Given the description of an element on the screen output the (x, y) to click on. 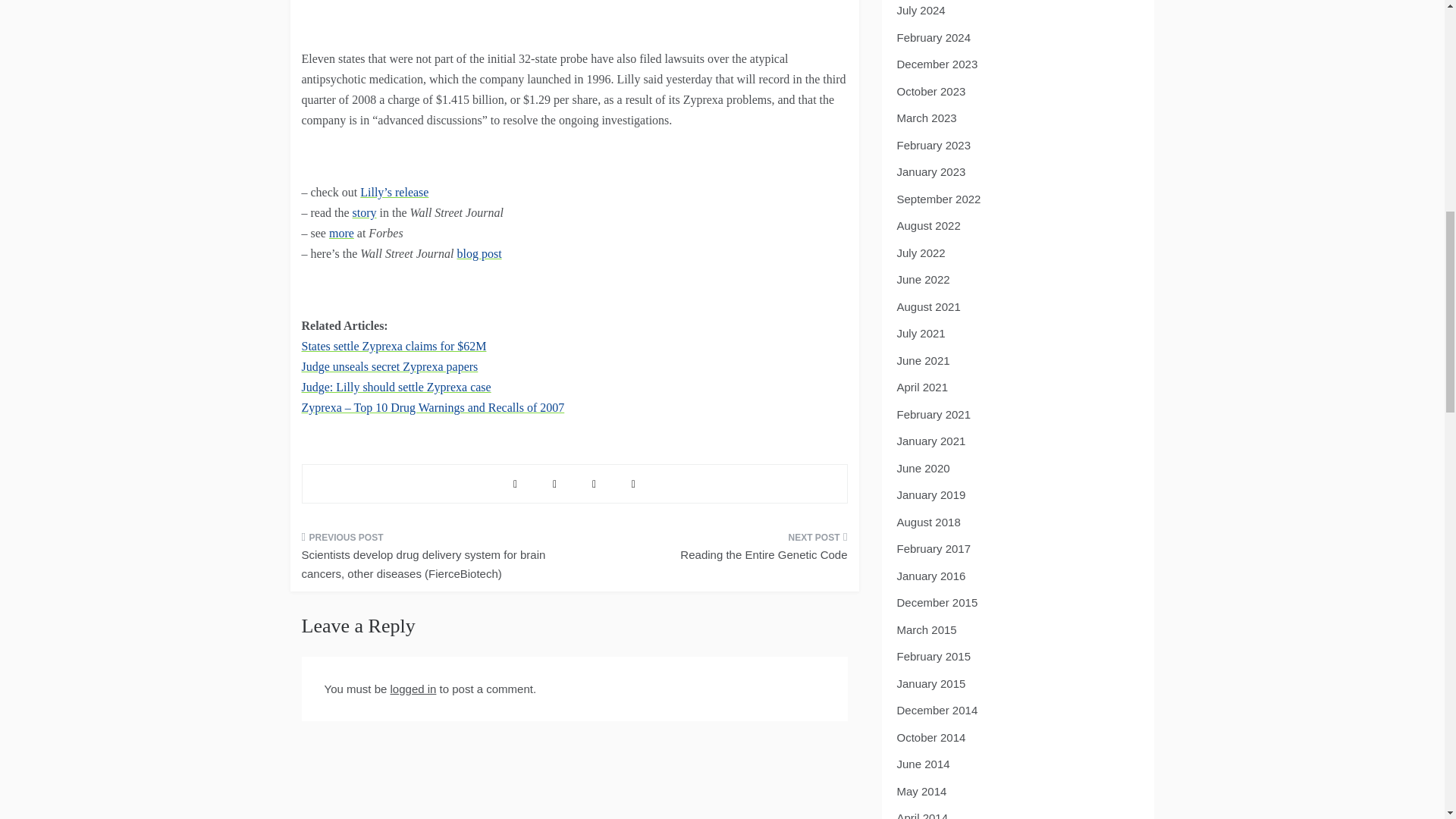
Judge: Lilly should settle Zyprexa case (396, 386)
more (341, 232)
story (364, 212)
blog post (478, 253)
Judge unseals secret Zyprexa papers (390, 366)
